Given the description of an element on the screen output the (x, y) to click on. 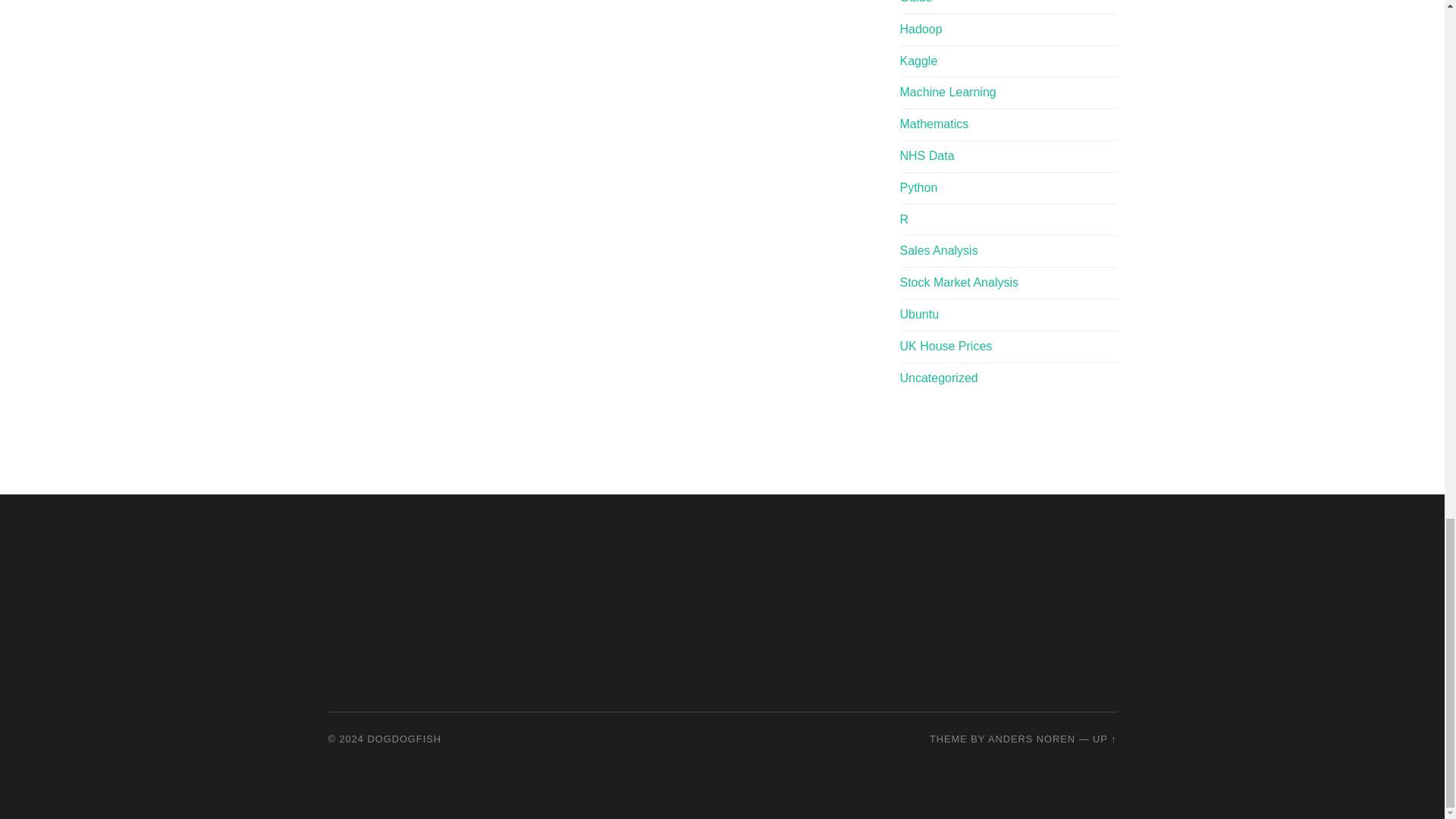
Mathematics (933, 123)
Hadoop (920, 29)
Kaggle (918, 60)
UK House Prices (945, 345)
To the top (1104, 738)
Sales Analysis (937, 250)
Ubuntu (919, 314)
Machine Learning (947, 91)
ANDERS NOREN (1031, 738)
NHS Data (926, 155)
Uncategorized (937, 377)
Stock Market Analysis (958, 282)
DOGDOGFISH (404, 738)
Guide (915, 2)
Python (918, 187)
